Given the description of an element on the screen output the (x, y) to click on. 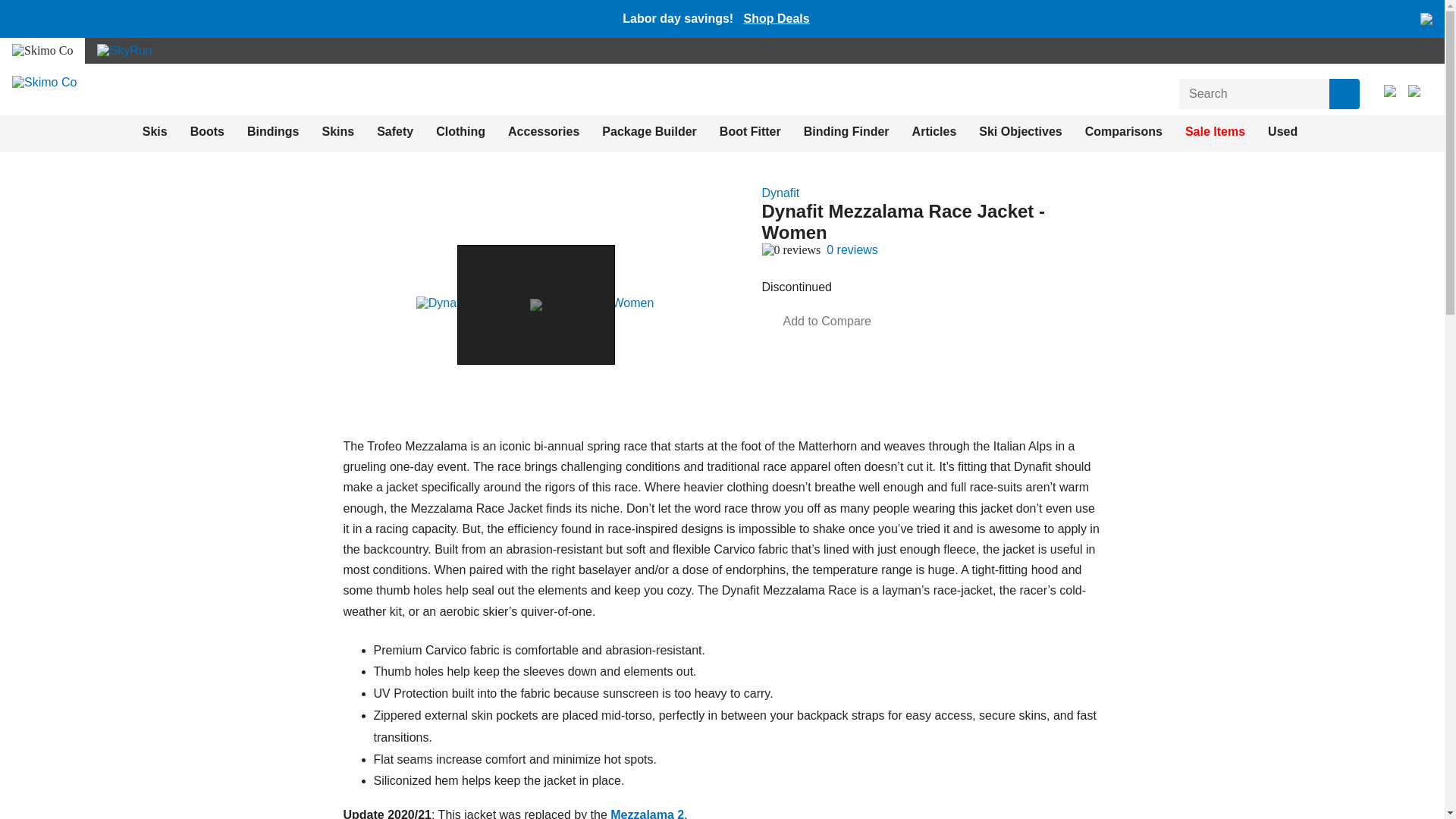
Search (1344, 93)
Skis (154, 131)
Clothing (459, 131)
Skins (337, 131)
Skimo Co (44, 82)
Bindings (272, 131)
Dynafit Mezzalama Race Jacket - Women (534, 303)
Boots (207, 131)
Safety (395, 131)
Shop Deals (775, 18)
